Given the description of an element on the screen output the (x, y) to click on. 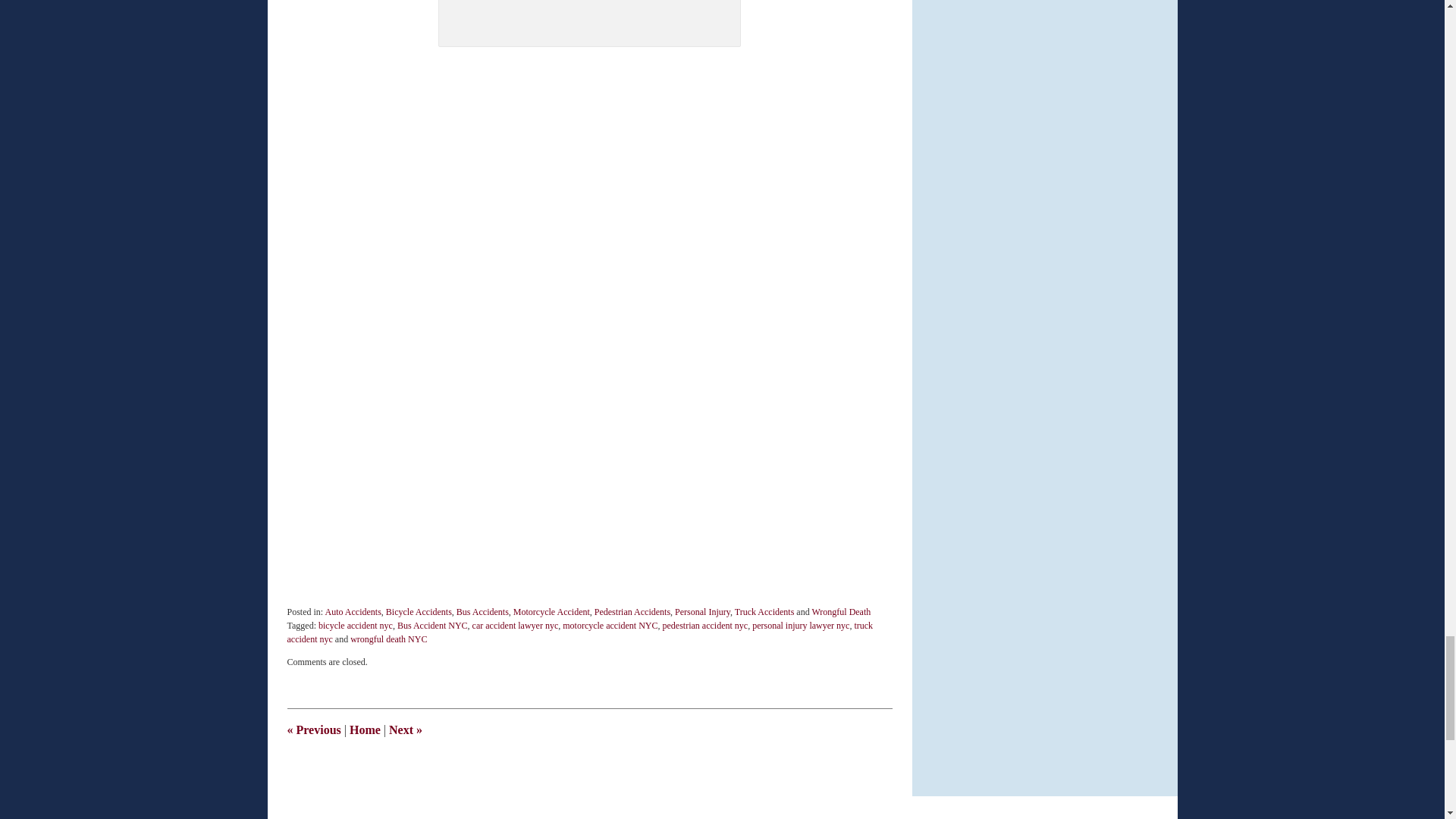
View all posts in Bus Accidents (482, 611)
View all posts tagged with Bus Accident NYC (432, 624)
View all posts tagged with motorcycle accident NYC (610, 624)
View all posts tagged with truck accident nyc (579, 631)
View all posts in Pedestrian Accidents (631, 611)
View all posts tagged with bicycle accident nyc (355, 624)
View all posts tagged with car accident lawyer nyc (515, 624)
View all posts in Bicycle Accidents (418, 611)
View all posts in Wrongful Death (840, 611)
View all posts tagged with wrongful death NYC (388, 638)
View all posts in Truck Accidents (764, 611)
View all posts in Motorcycle Accident (551, 611)
View all posts in Personal Injury (702, 611)
View all posts tagged with pedestrian accident nyc (705, 624)
